Given the description of an element on the screen output the (x, y) to click on. 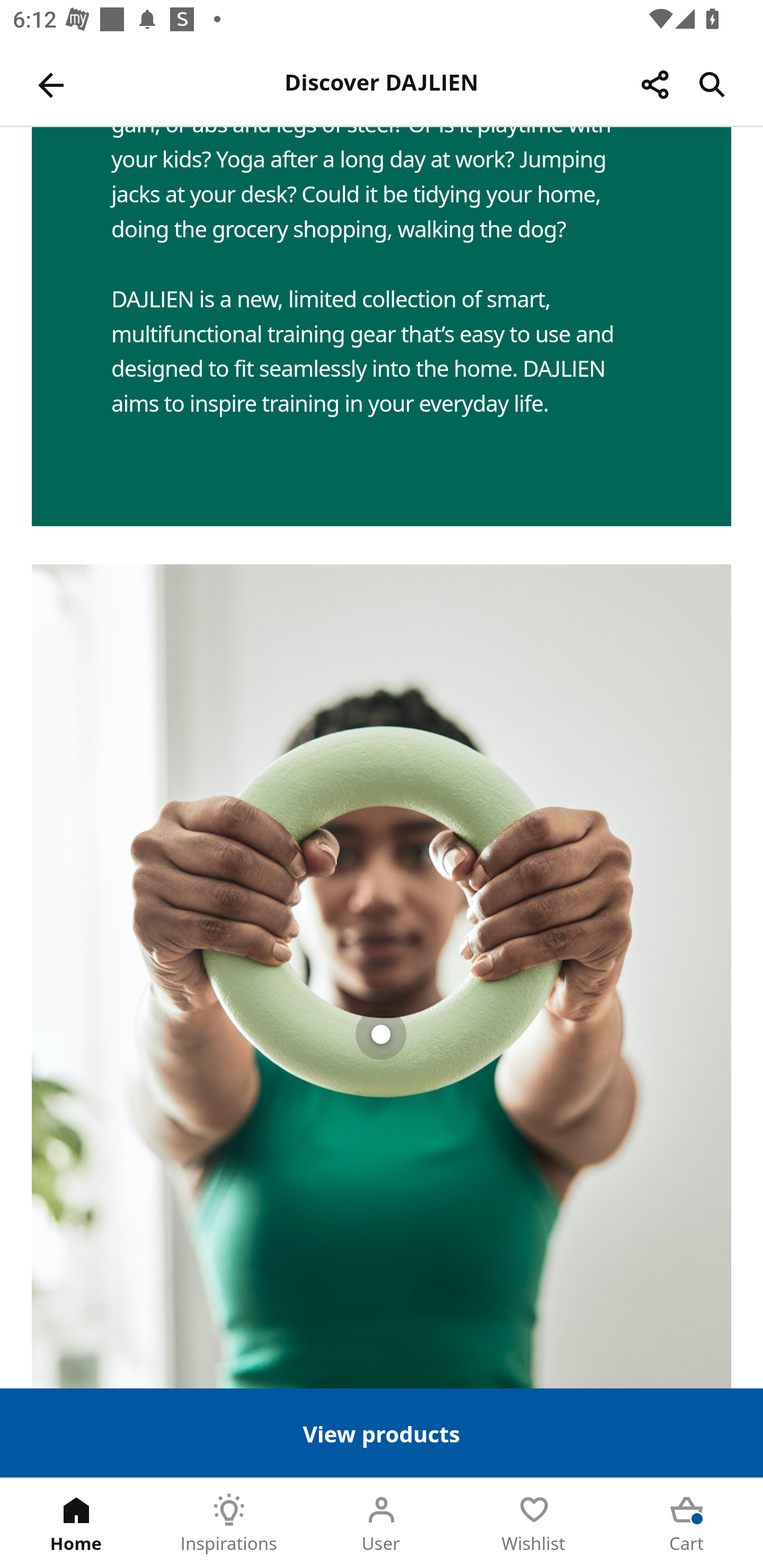
View products (381, 1432)
Home
Tab 1 of 5 (76, 1522)
Inspirations
Tab 2 of 5 (228, 1522)
User
Tab 3 of 5 (381, 1522)
Wishlist
Tab 4 of 5 (533, 1522)
Cart
Tab 5 of 5 (686, 1522)
